Given the description of an element on the screen output the (x, y) to click on. 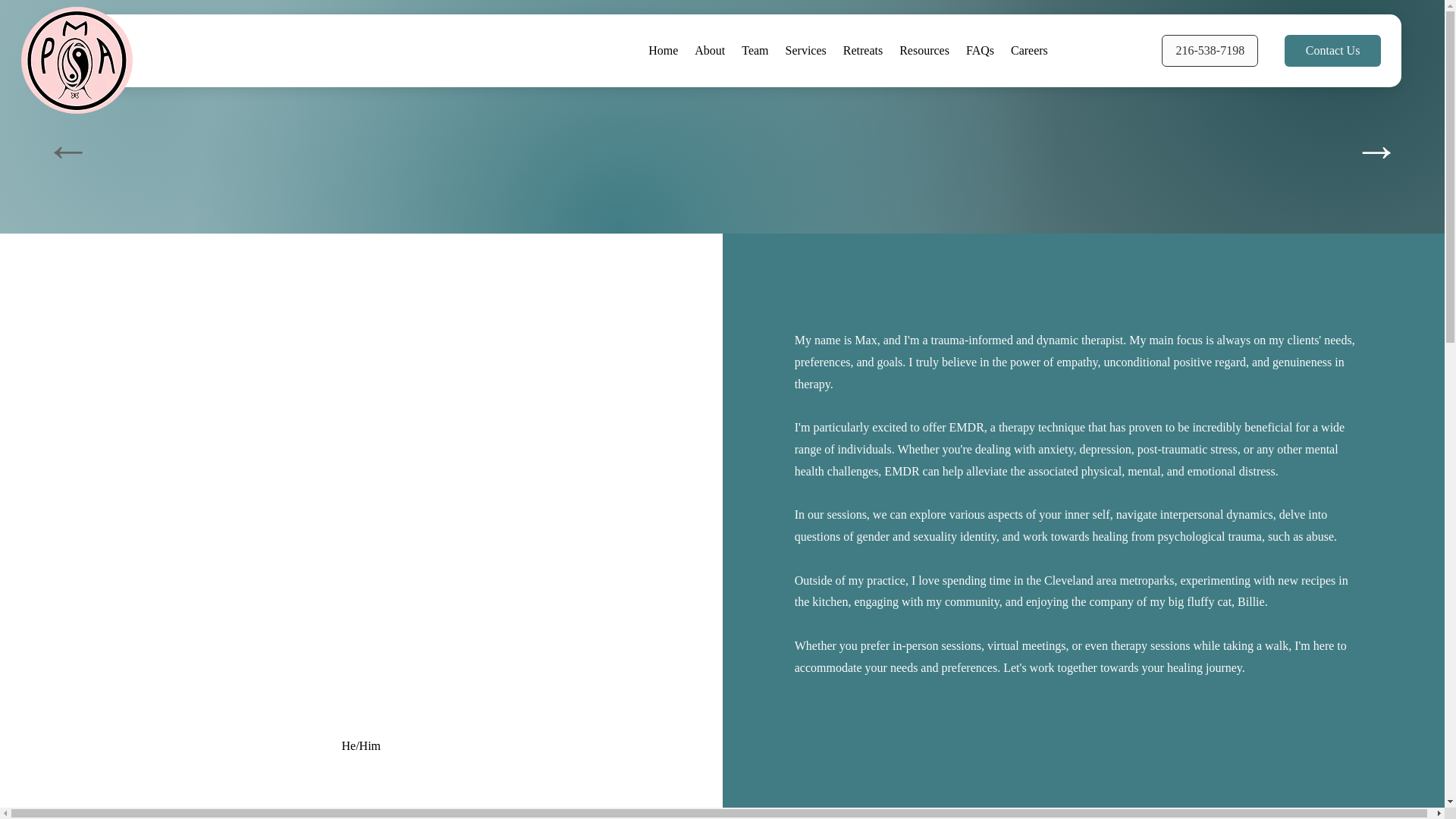
Team (754, 50)
Resources (923, 50)
FAQs (979, 50)
Careers (1029, 50)
Retreats (862, 50)
Contact Us (1332, 50)
Services (805, 50)
Home (662, 50)
About (709, 50)
216-538-7198 (619, 50)
